Given the description of an element on the screen output the (x, y) to click on. 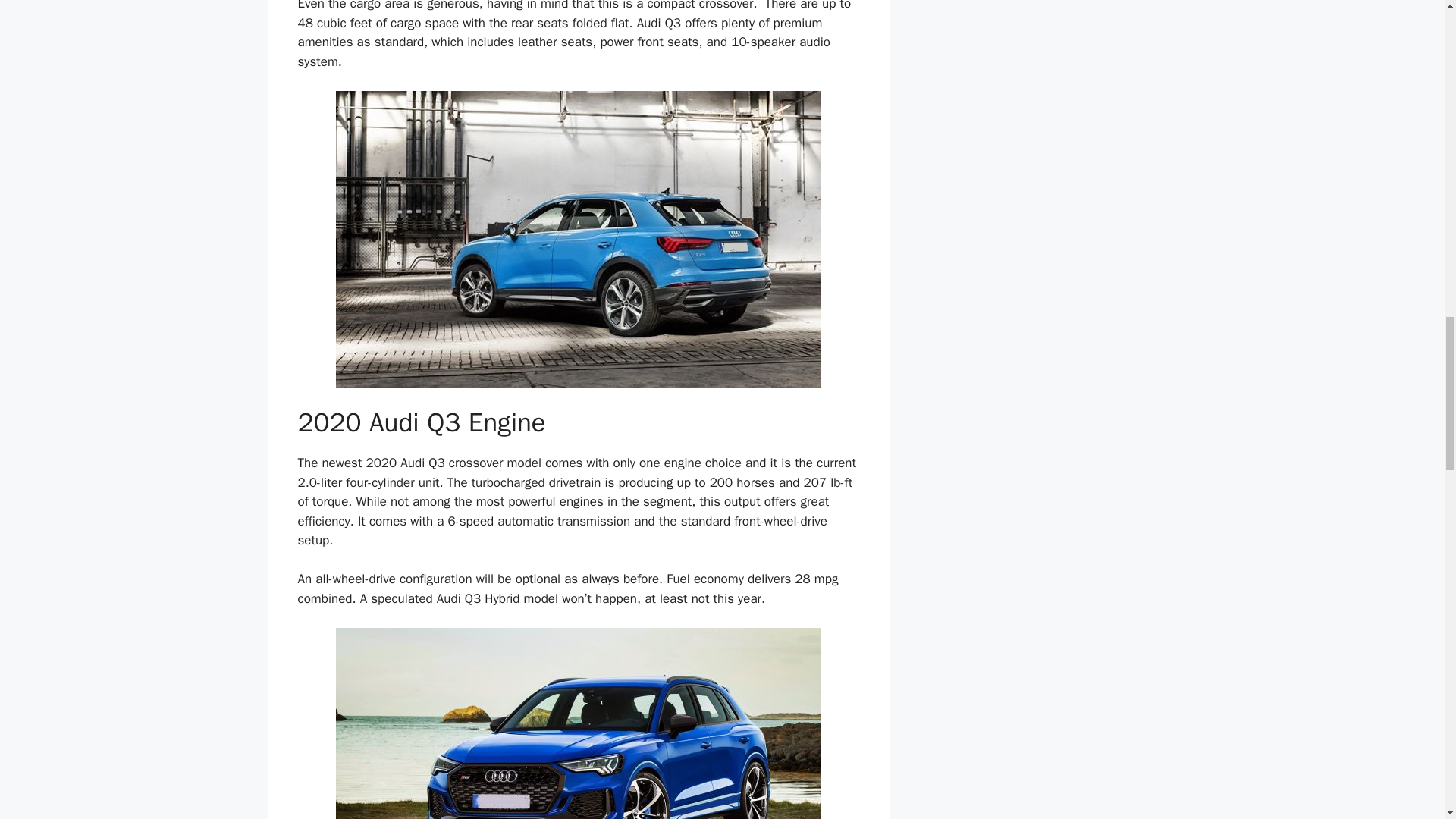
2020 Auddi Q3 RS (577, 723)
